Given the description of an element on the screen output the (x, y) to click on. 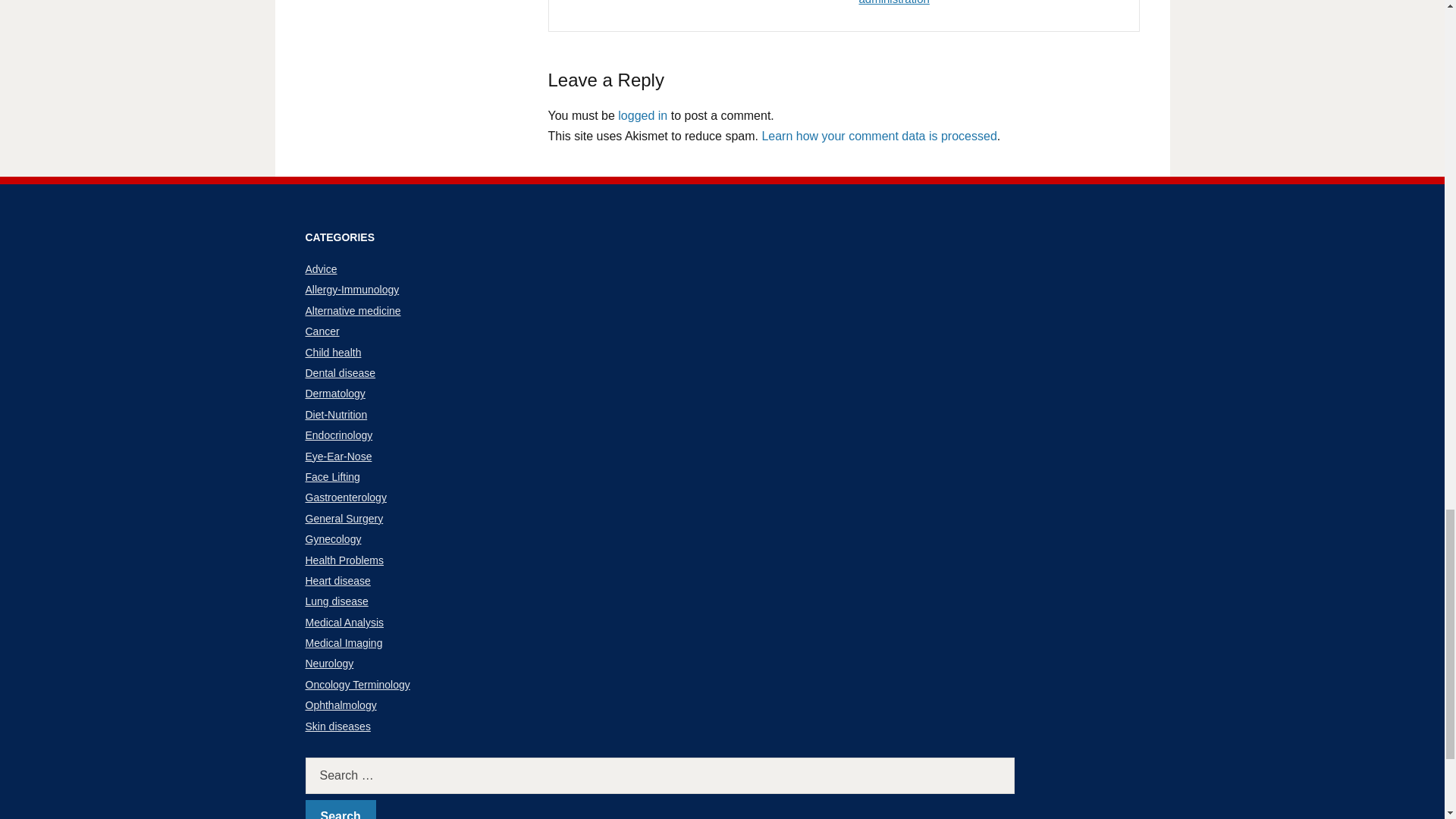
Plant effects depending on the form of administration (954, 2)
Search (339, 809)
logged in (641, 115)
Search (339, 809)
Learn how your comment data is processed (878, 135)
